Given the description of an element on the screen output the (x, y) to click on. 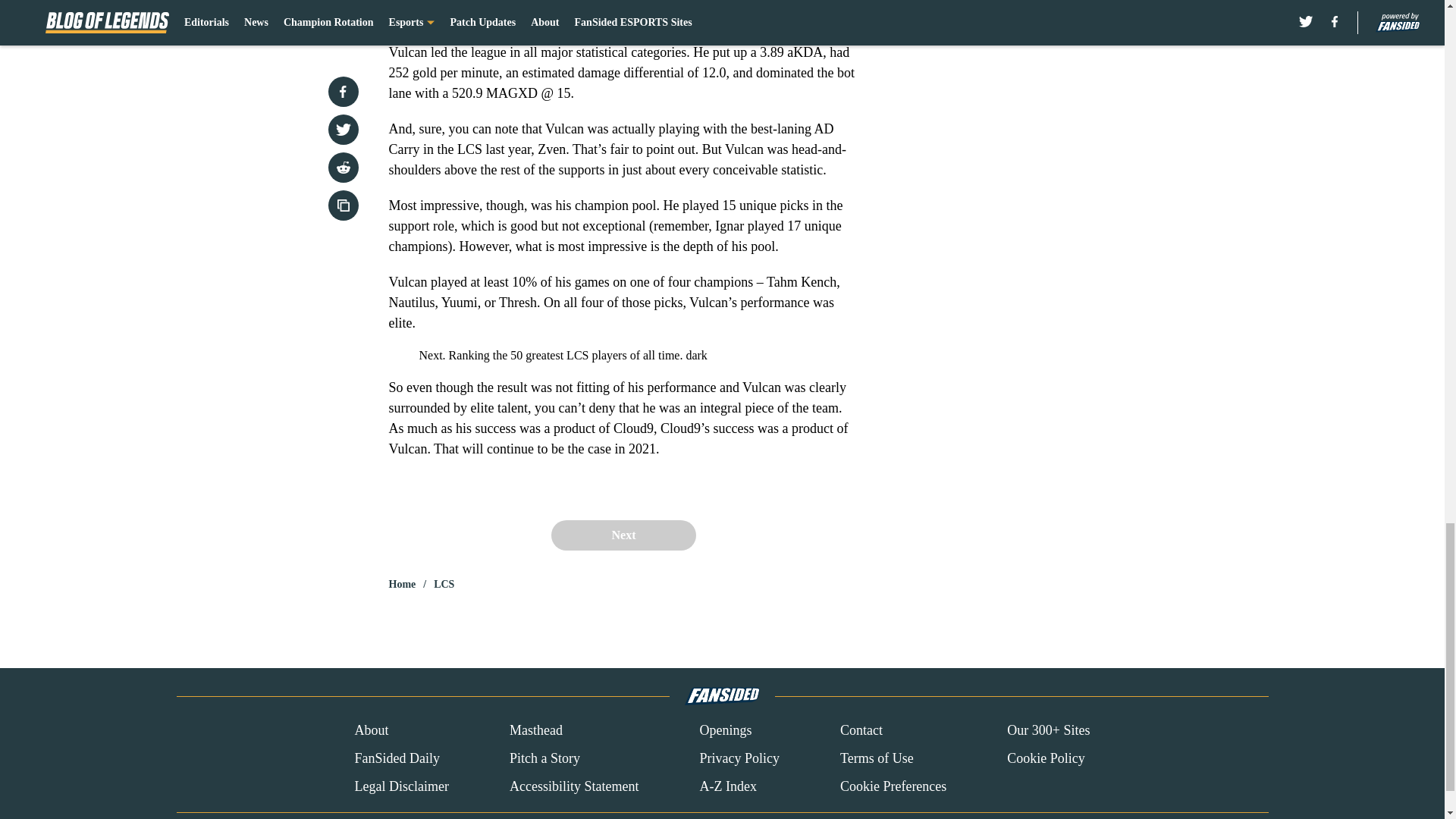
Openings (724, 730)
Privacy Policy (738, 758)
Pitch a Story (544, 758)
About (370, 730)
Contact (861, 730)
Masthead (535, 730)
Next (622, 535)
LCS (443, 584)
Home (401, 584)
Cookie Policy (1045, 758)
FanSided Daily (396, 758)
Accessibility Statement (574, 786)
Terms of Use (877, 758)
Legal Disclaimer (400, 786)
